Given the description of an element on the screen output the (x, y) to click on. 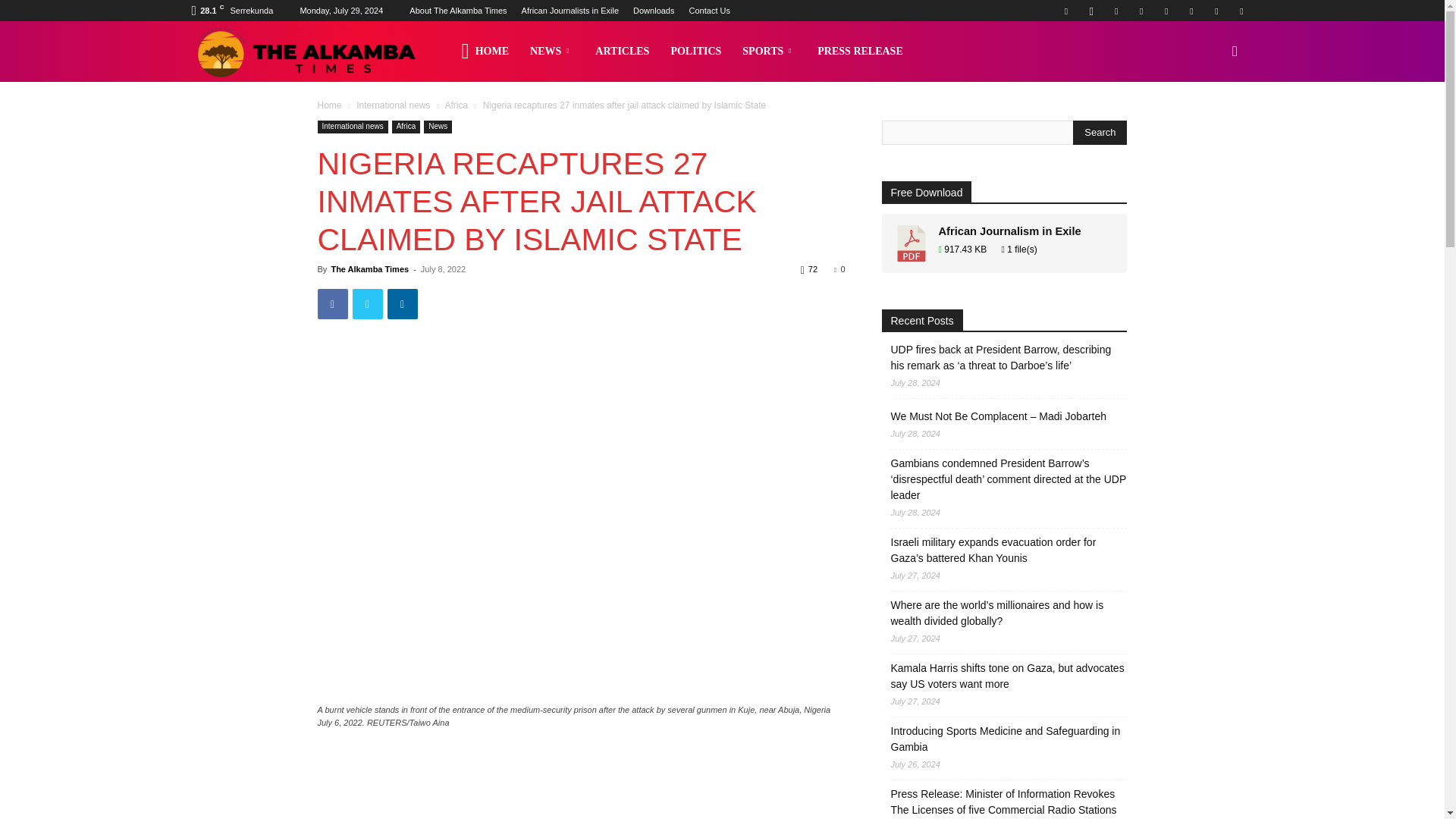
Facebook (1065, 10)
About The Alkamba Times (457, 10)
Search (1099, 132)
Mail (1141, 10)
Contact Us (709, 10)
Instagram (1091, 10)
Downloads (653, 10)
African Journalists in Exile (569, 10)
Linkedin (1115, 10)
Soundcloud (1165, 10)
